Given the description of an element on the screen output the (x, y) to click on. 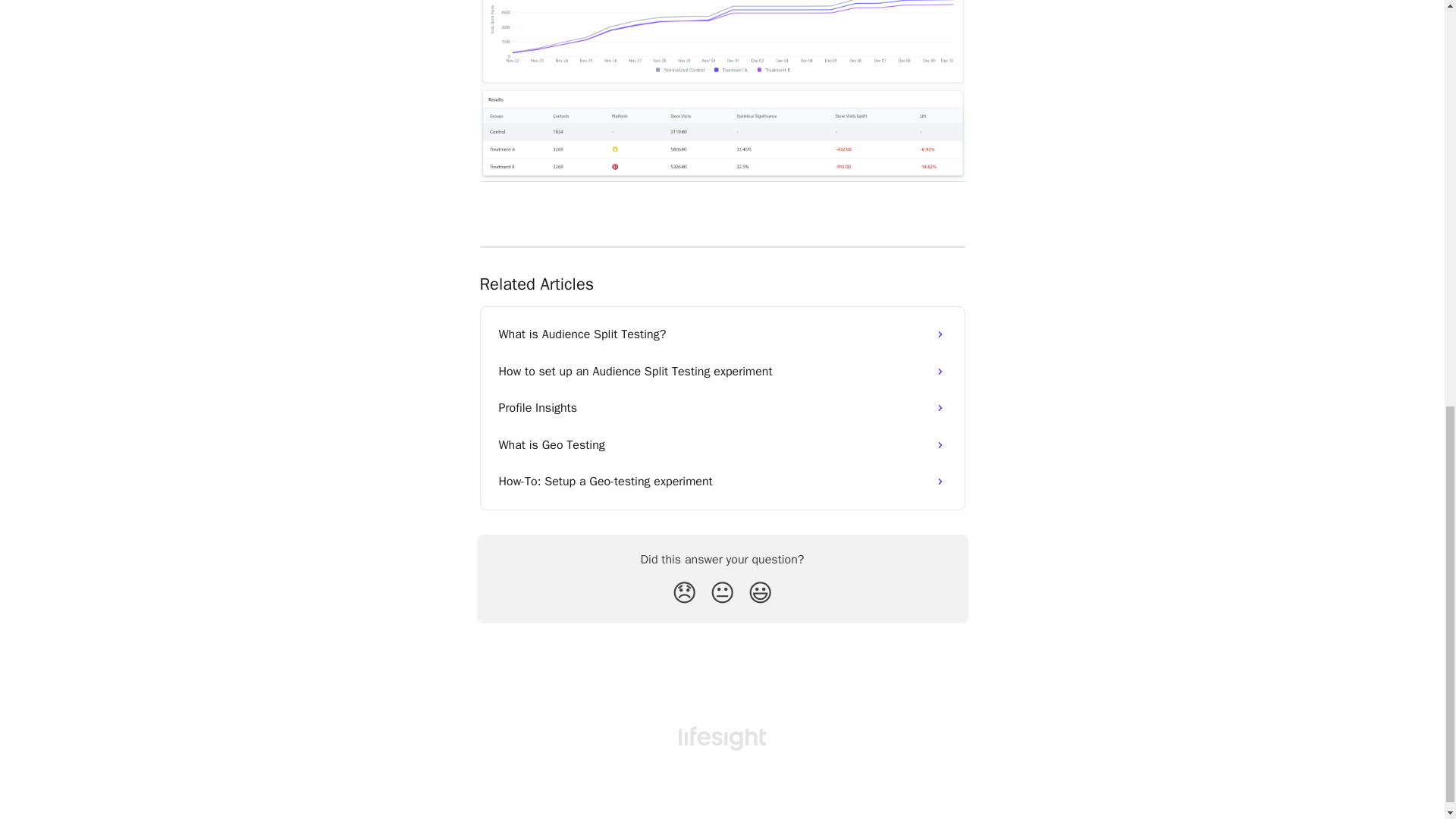
How-To: Setup a Geo-testing experiment (722, 481)
Profile Insights (722, 407)
What is Audience Split Testing? (722, 334)
How to set up an Audience Split Testing experiment (722, 370)
What is Geo Testing (722, 444)
